Given the description of an element on the screen output the (x, y) to click on. 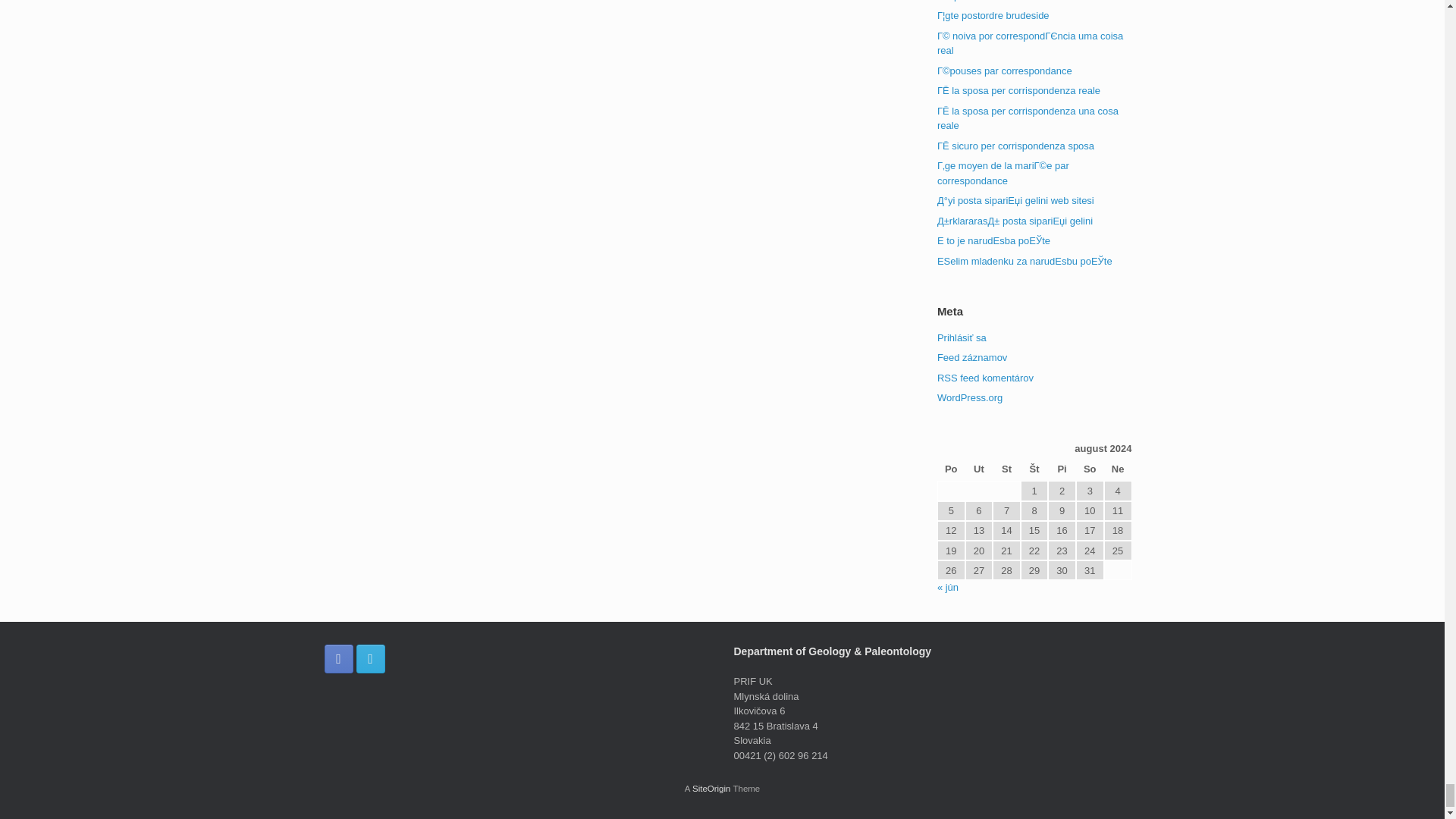
pondelok (951, 470)
sobota (1089, 470)
piatok (1061, 470)
streda (1006, 470)
utorok (978, 470)
